Given the description of an element on the screen output the (x, y) to click on. 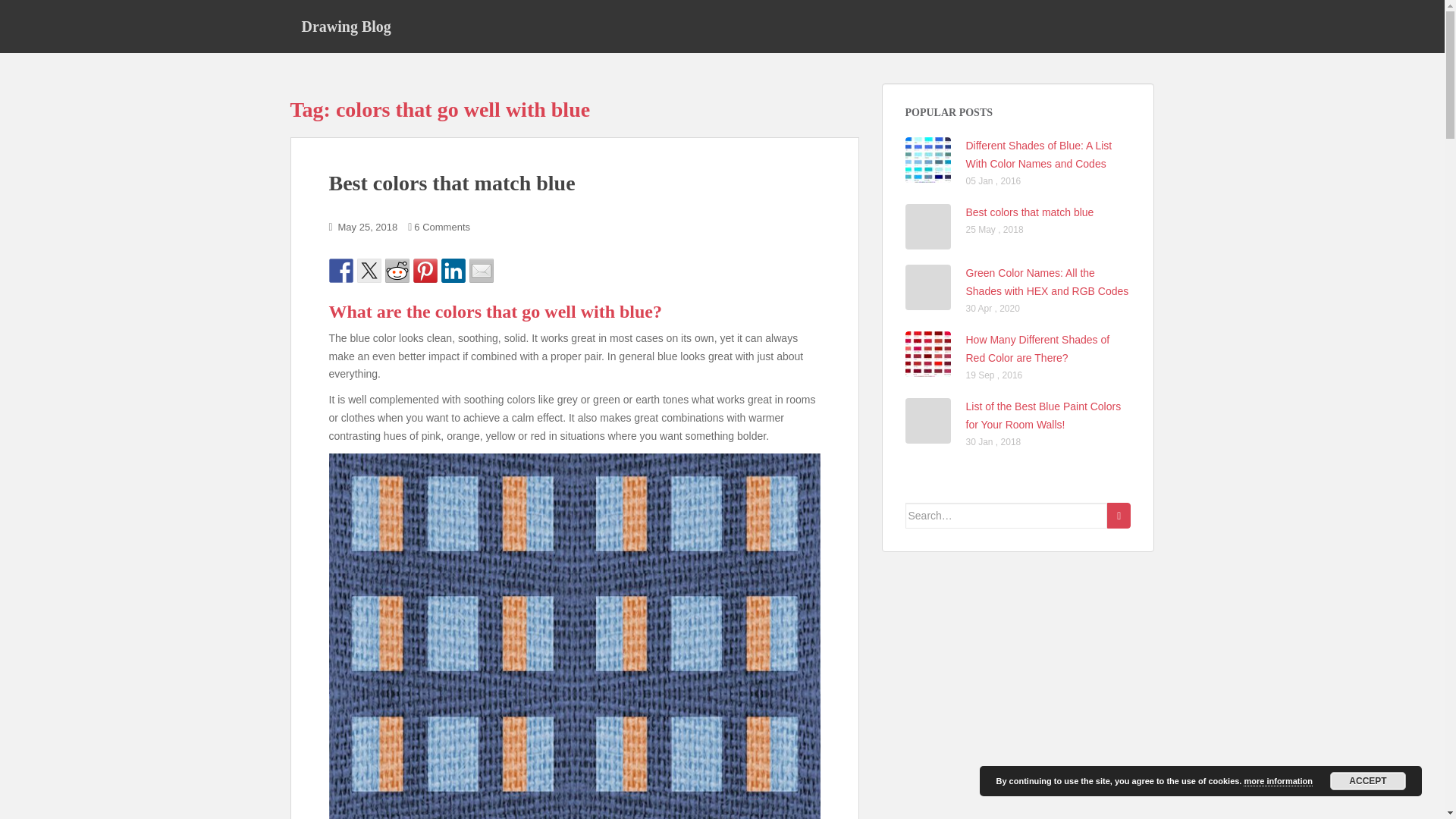
Best colors that match blue (1030, 212)
Share on Twitter (368, 270)
Different Shades of Blue: A List With Color Names and Codes (1039, 154)
Pin it with Pinterest (424, 270)
Share on Linkedin (453, 270)
Drawing Blog (345, 26)
Drawing Blog (345, 26)
Share by email (480, 270)
Share on Facebook (341, 270)
6 Comments (441, 226)
